Given the description of an element on the screen output the (x, y) to click on. 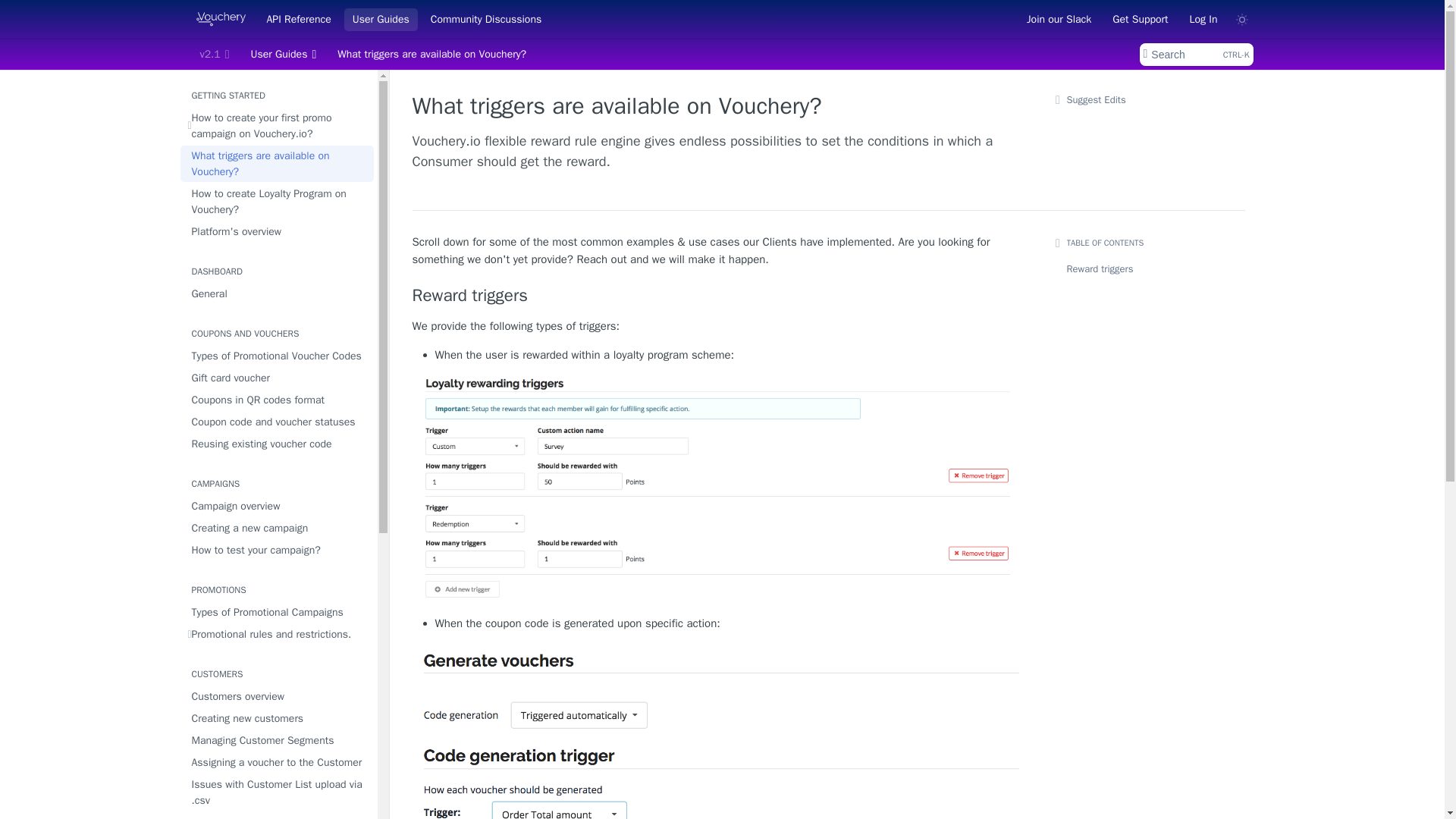
Screen Shot 2019-09-20 at 19.01.08.png (715, 730)
Coupon code and voucher statuses (277, 421)
How to create Loyalty Program on Vouchery? (277, 201)
Reusing existing voucher code (277, 444)
API Reference (298, 18)
Get Support (1139, 18)
Join our Slack (1058, 18)
General (277, 293)
Types of Promotional Voucher Codes (277, 355)
v2.1 (213, 54)
Reward triggers (715, 295)
User Guides (380, 18)
What triggers are available on Vouchery? (277, 163)
Community Discussions (486, 18)
